Given the description of an element on the screen output the (x, y) to click on. 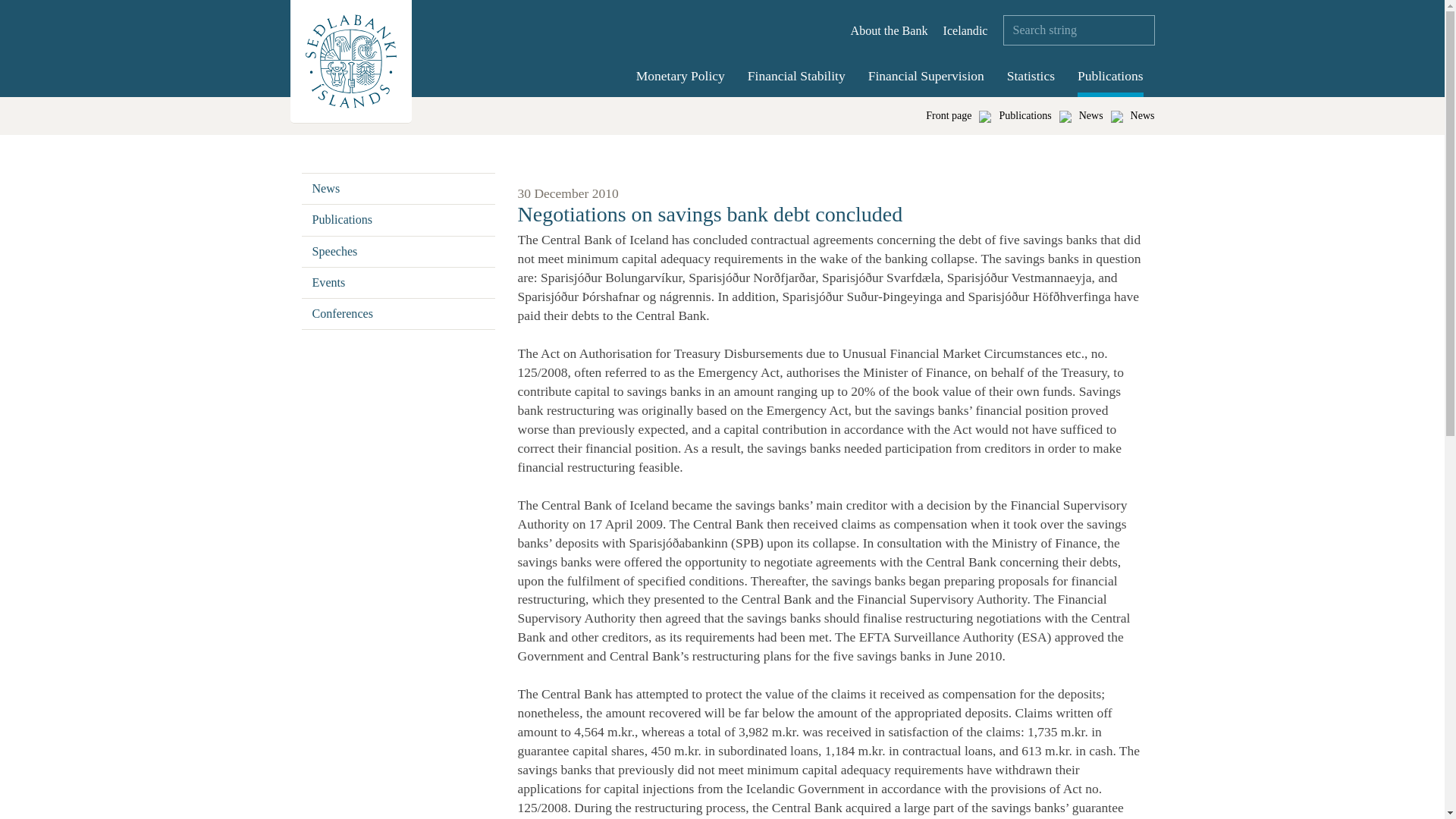
Search string (1078, 30)
About the Bank (889, 30)
Publications (1109, 77)
Icelandic (965, 30)
Financial Stability (796, 77)
PageName (1142, 115)
Statistics (1030, 77)
Monetary Policy (680, 77)
PageName (1090, 115)
PageName (1024, 115)
